Given the description of an element on the screen output the (x, y) to click on. 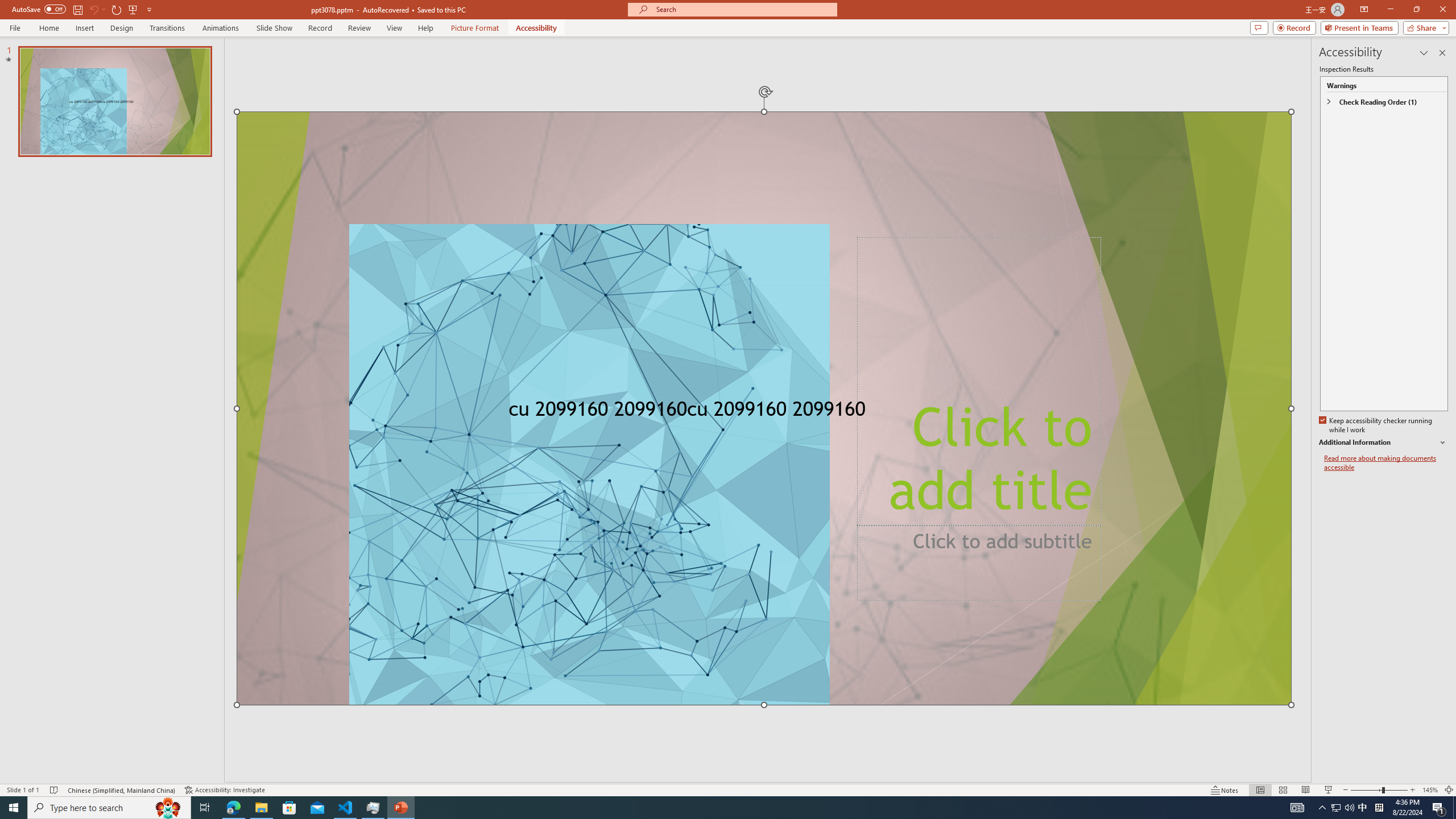
Zoom 145% (1430, 790)
